Given the description of an element on the screen output the (x, y) to click on. 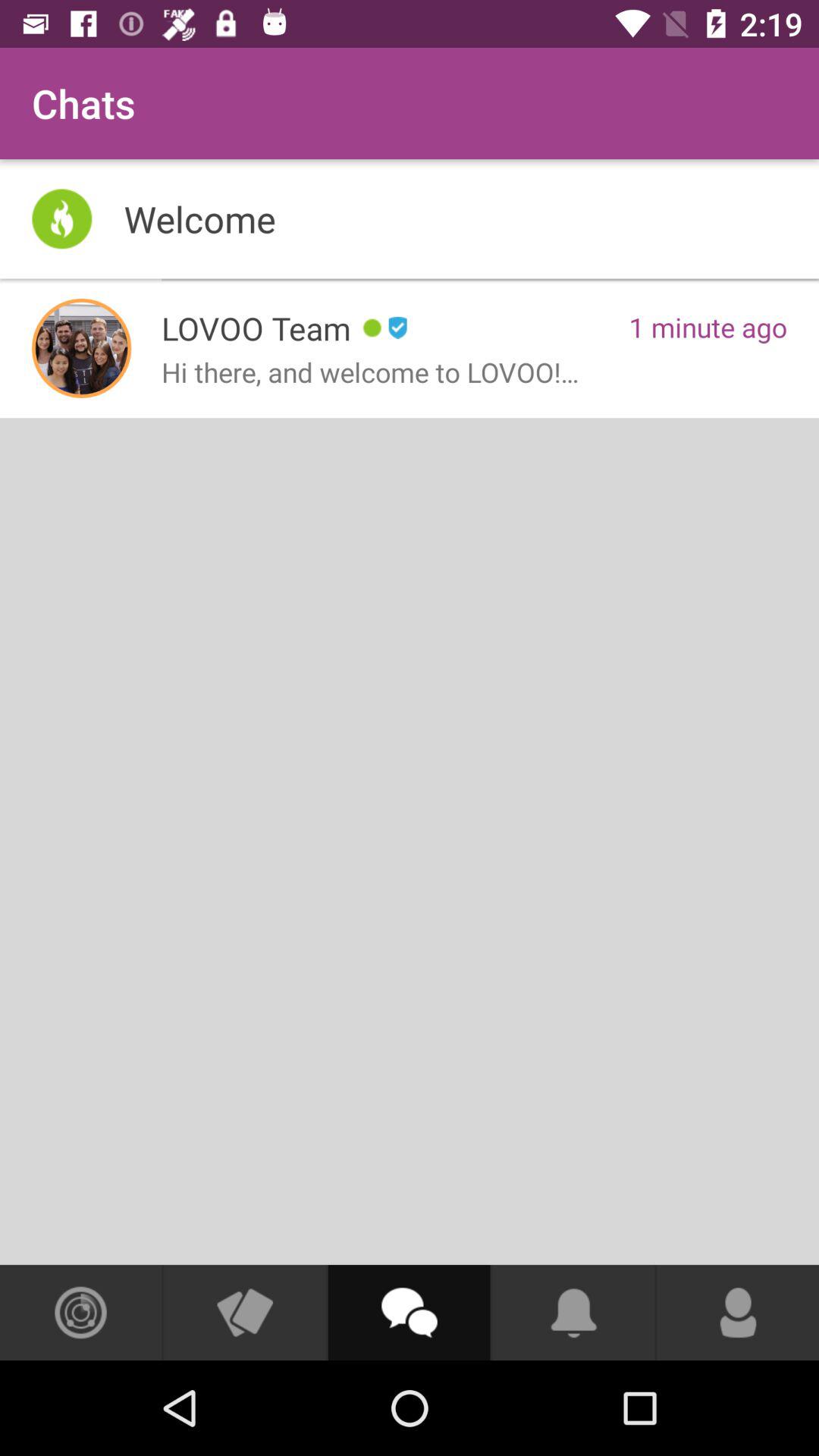
send a text message (409, 1312)
